Given the description of an element on the screen output the (x, y) to click on. 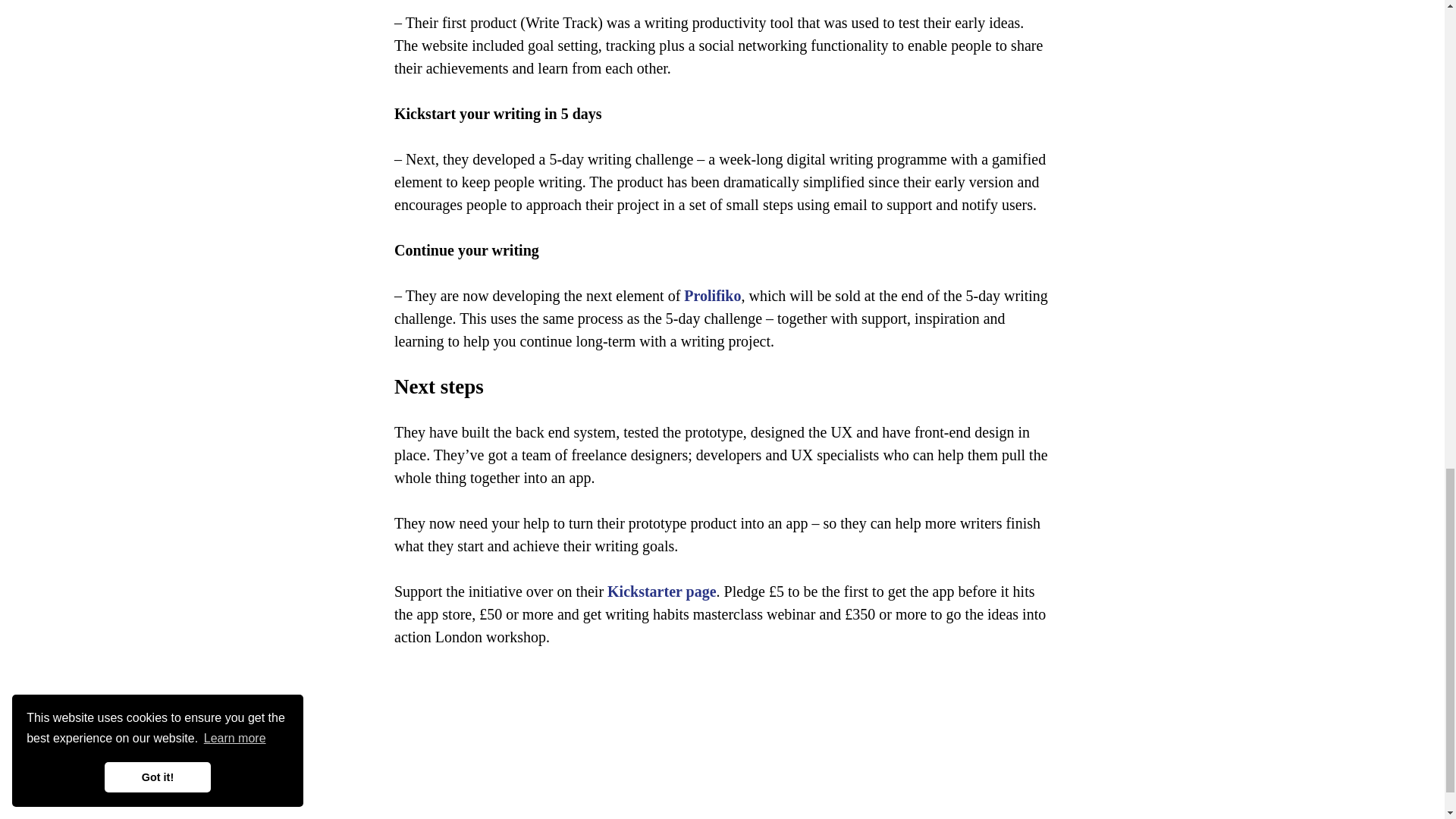
Prolifiko (712, 295)
Kickstarter page (661, 591)
Venn Creative (204, 775)
